Given the description of an element on the screen output the (x, y) to click on. 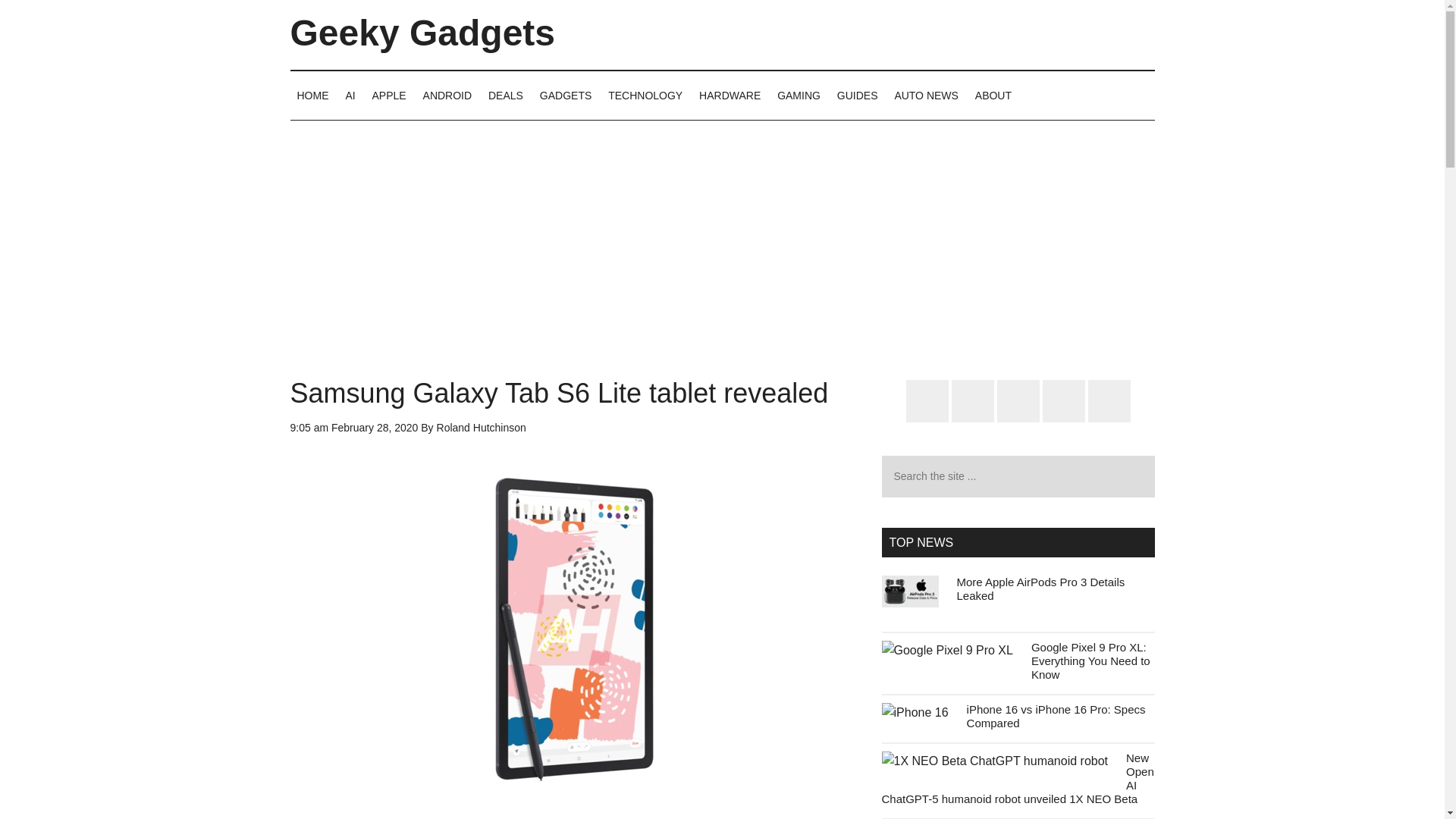
iPhone 16 vs iPhone 16 Pro: Specs Compared (1055, 715)
More Apple AirPods Pro 3 Details Leaked (1040, 588)
About Geeky Gadgets (992, 95)
GADGETS (565, 95)
HOME (311, 95)
ABOUT (992, 95)
GUIDES (857, 95)
